Given the description of an element on the screen output the (x, y) to click on. 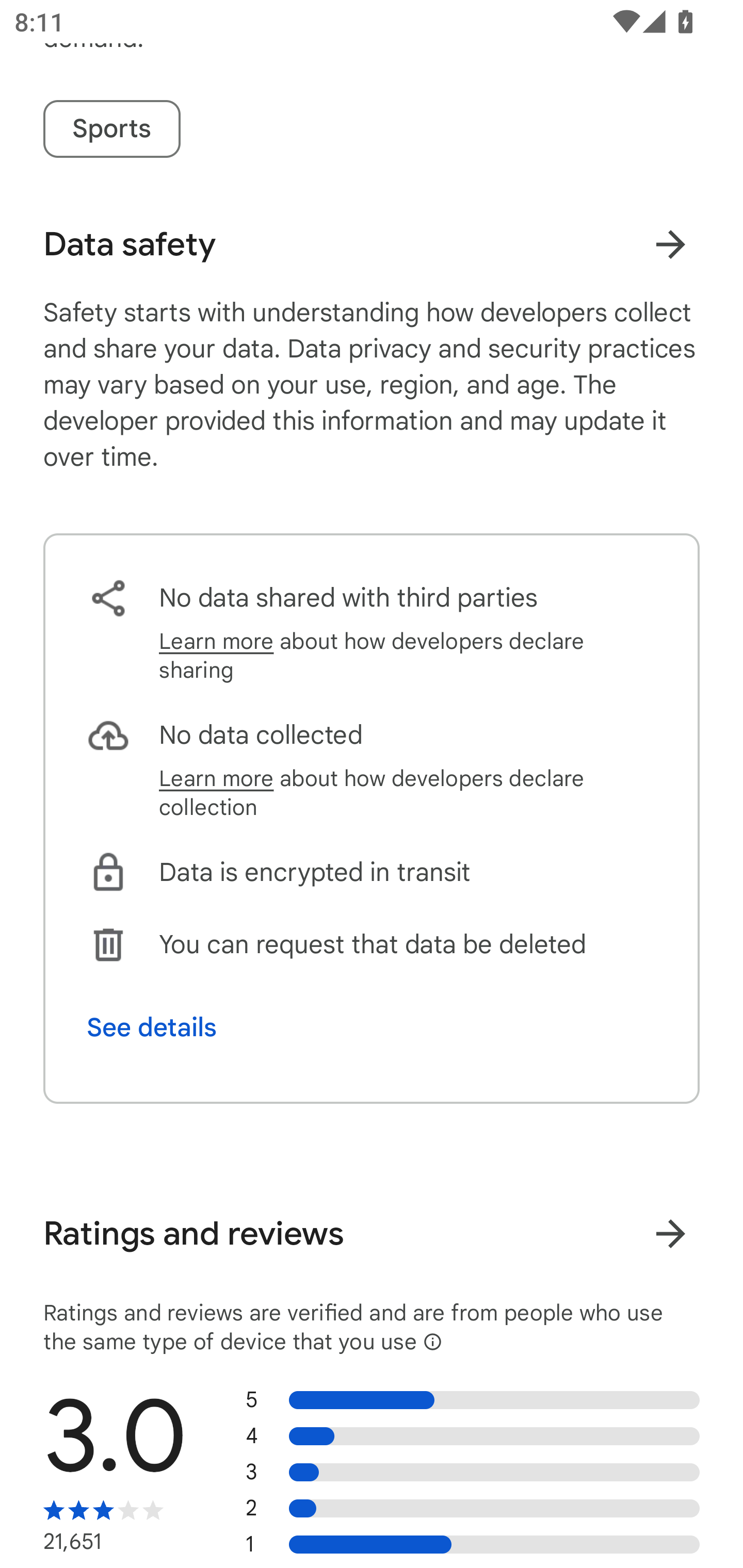
Sports tag (111, 129)
Data safety Learn more about data safety (371, 244)
Learn more about data safety (670, 244)
Learn more about how developers declare sharing (407, 656)
Learn more about how developers declare collection (407, 793)
See details (151, 1027)
Ratings and reviews View all ratings and reviews (371, 1233)
View all ratings and reviews (670, 1233)
